Given the description of an element on the screen output the (x, y) to click on. 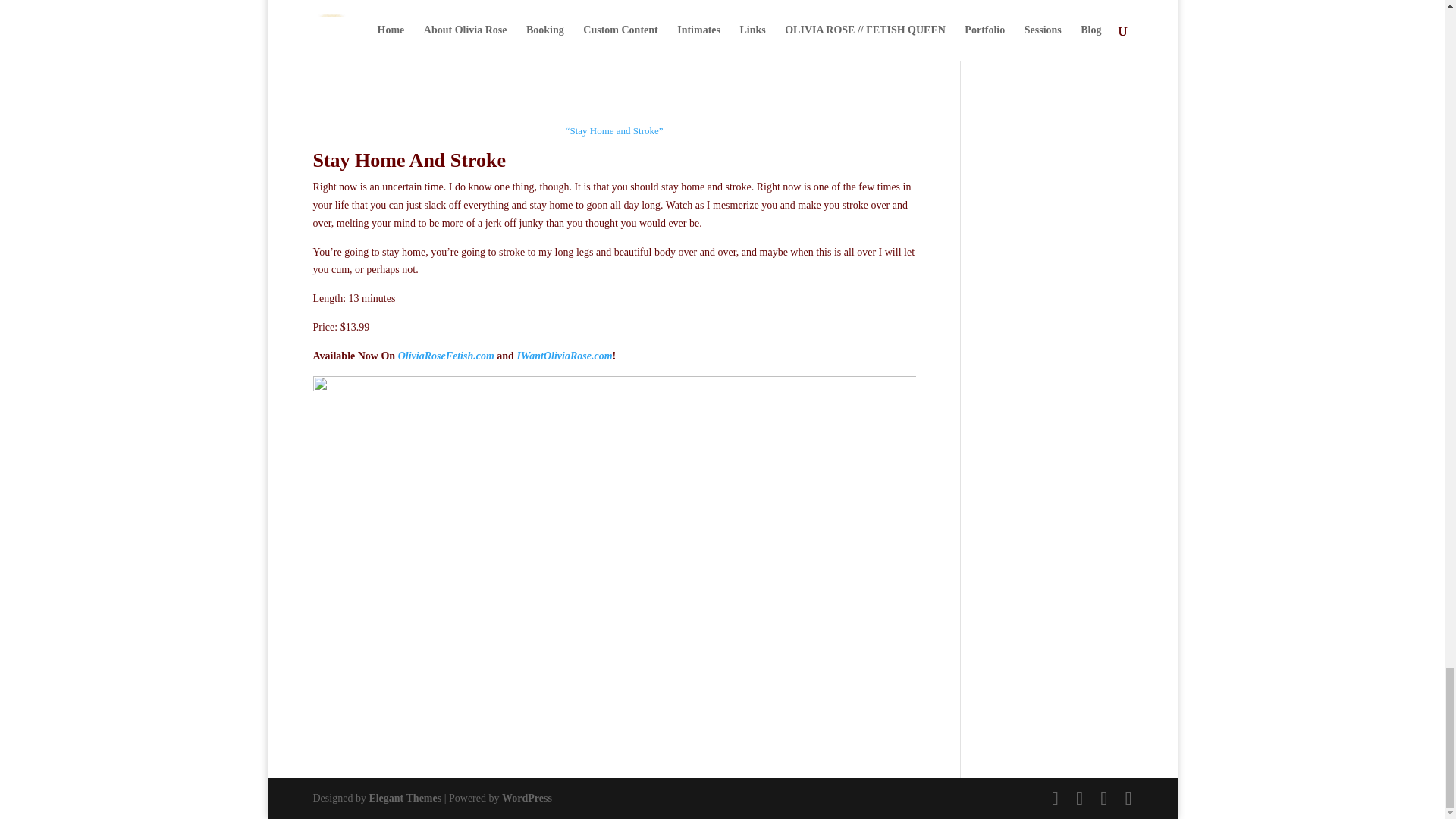
Premium WordPress Themes (404, 797)
WordPress (526, 797)
IWantOliviaRose.com (563, 355)
Elegant Themes (404, 797)
OliviaRoseFetish.com (446, 355)
